Given the description of an element on the screen output the (x, y) to click on. 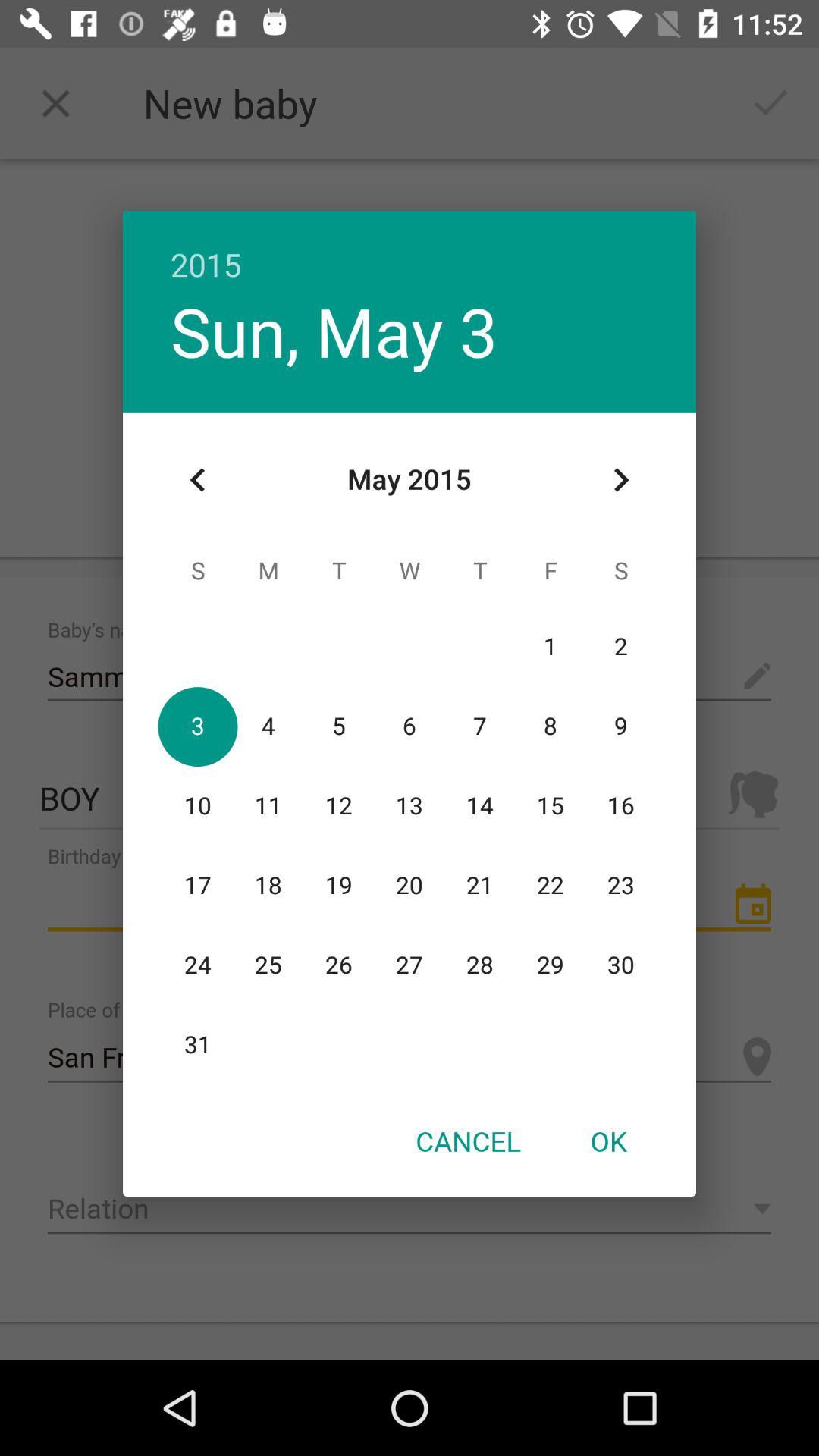
scroll until the cancel icon (467, 1140)
